Given the description of an element on the screen output the (x, y) to click on. 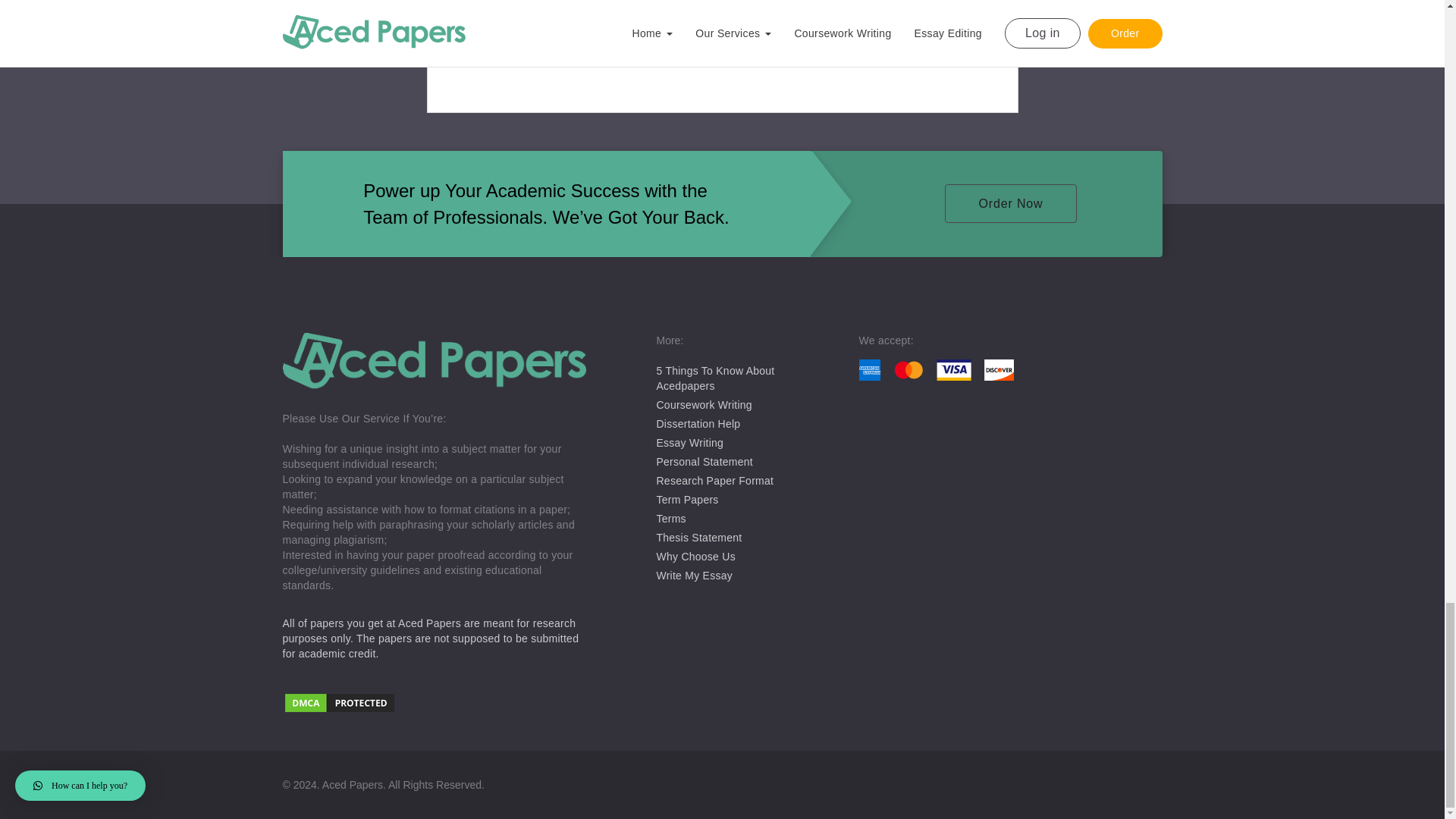
DMCA.com Protection Status (433, 703)
